Given the description of an element on the screen output the (x, y) to click on. 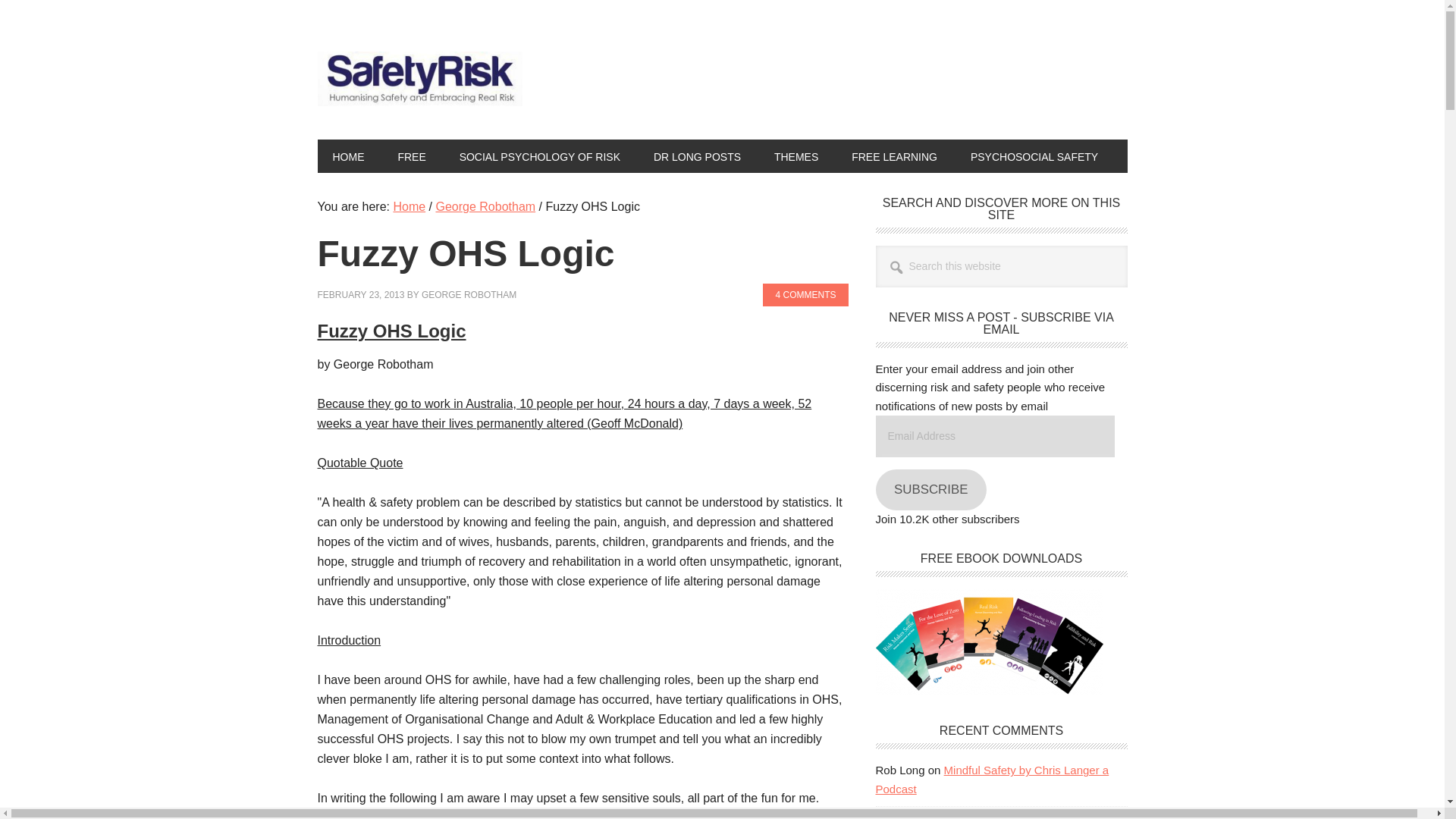
FREE (411, 155)
SAFETYRISK.NET (419, 81)
HOME (347, 155)
